Given the description of an element on the screen output the (x, y) to click on. 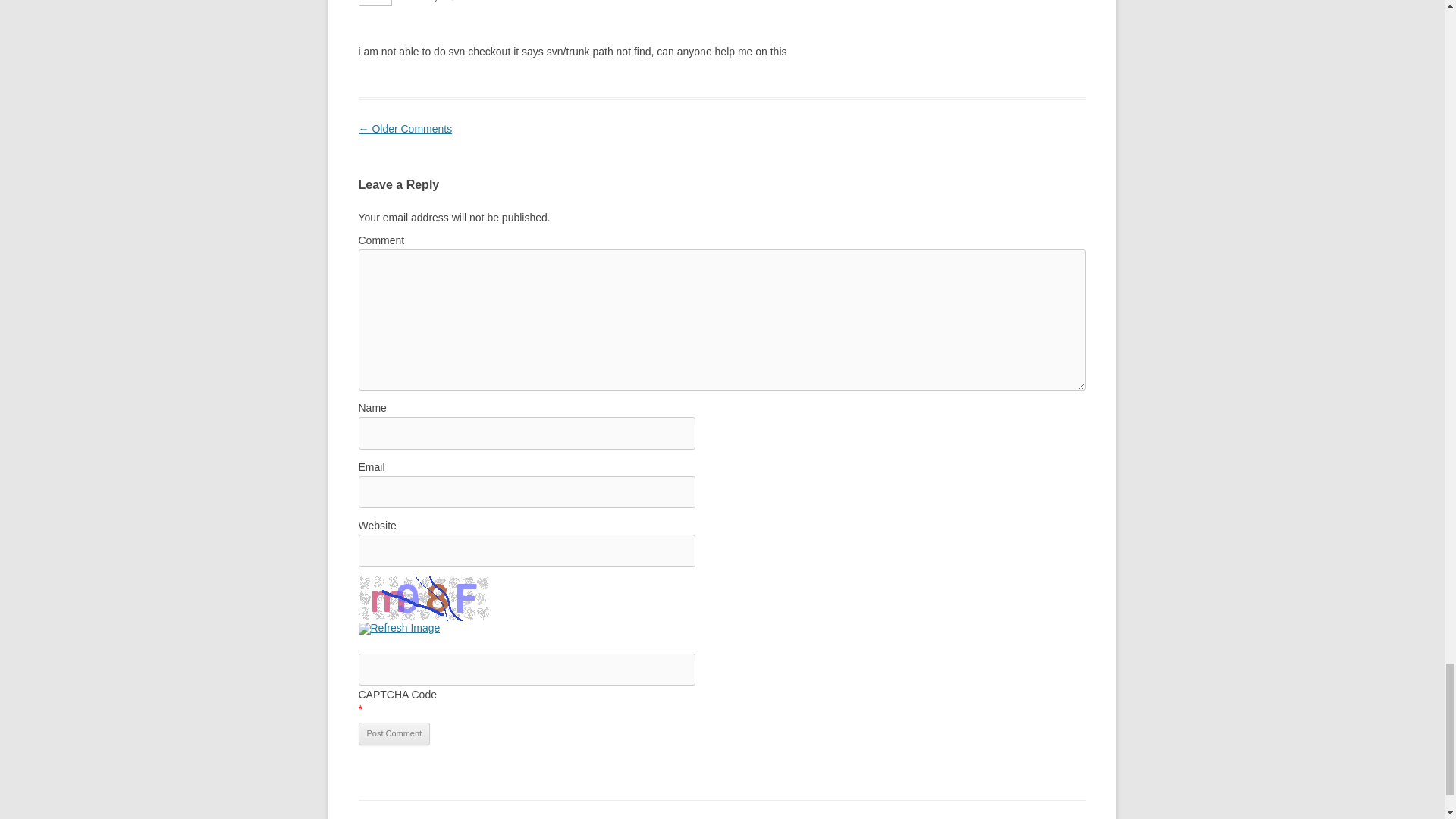
CAPTCHA Image (424, 597)
Post Comment (393, 733)
Refresh Image (398, 627)
